Given the description of an element on the screen output the (x, y) to click on. 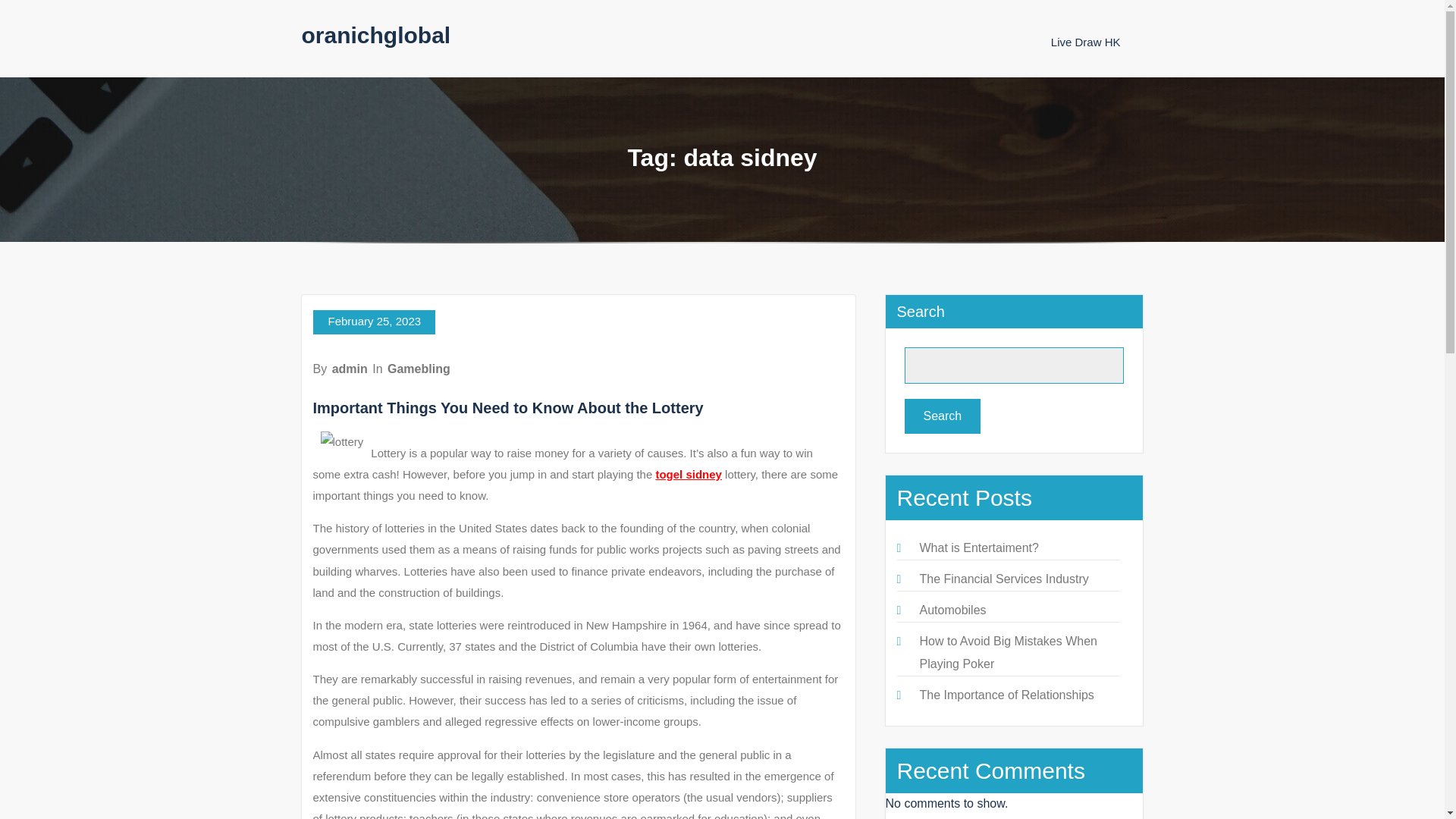
The Importance of Relationships (1005, 694)
The Financial Services Industry (1002, 578)
Automobiles (951, 609)
oranichglobal (376, 34)
Live Draw HK (1086, 41)
How to Avoid Big Mistakes When Playing Poker (1007, 652)
Search (941, 416)
admin (349, 368)
Important Things You Need to Know About the Lottery (508, 407)
February 25, 2023 (374, 322)
